Given the description of an element on the screen output the (x, y) to click on. 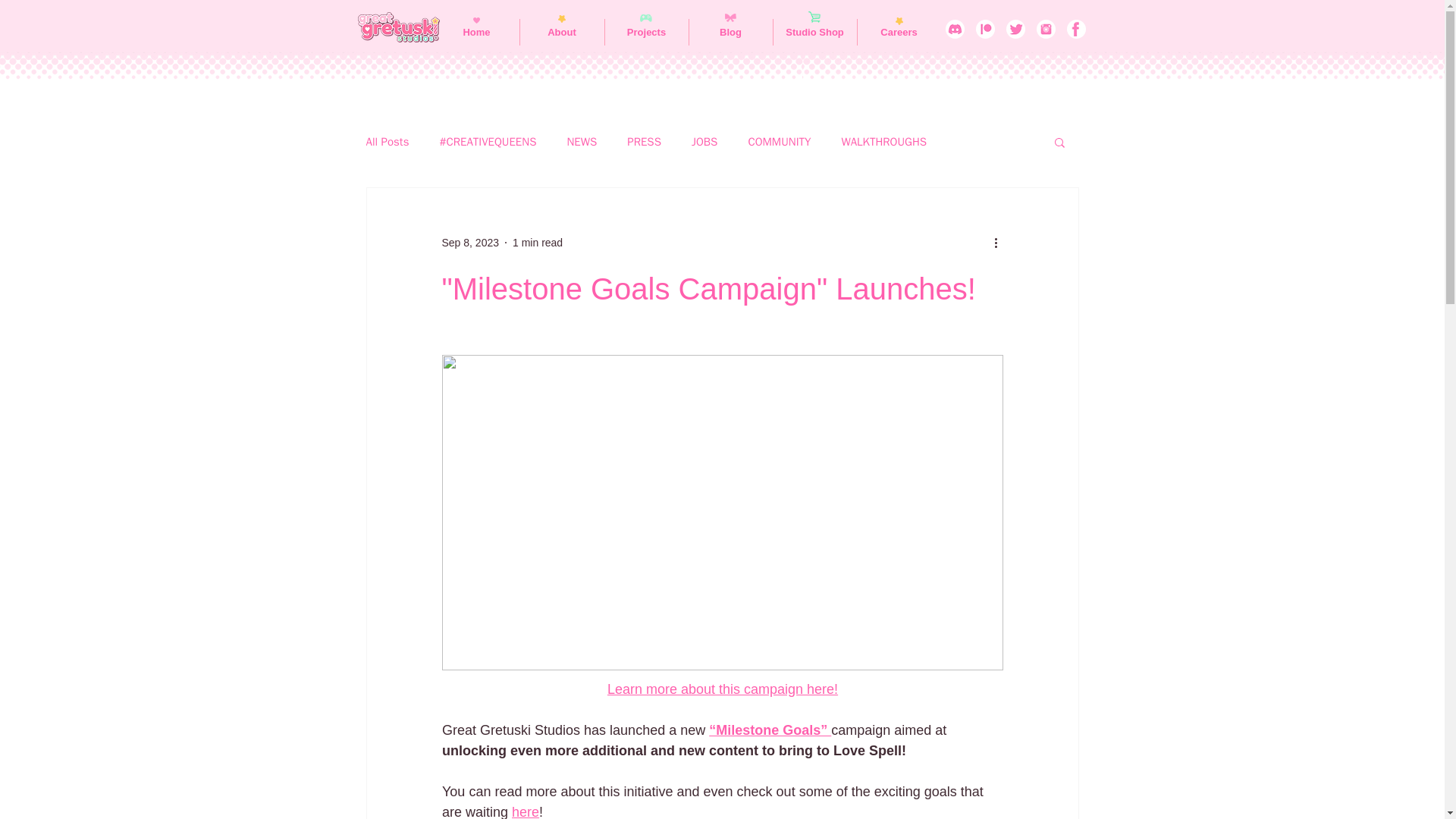
Learn more about this campaign here! (722, 688)
Sep 8, 2023 (470, 242)
1 min read (537, 242)
All Posts (387, 142)
JOBS (704, 142)
Home (475, 31)
Careers (898, 31)
COMMUNITY (779, 142)
WALKTHROUGHS (883, 142)
here (525, 811)
Studio Shop (815, 31)
About (561, 31)
Projects (646, 31)
PRESS (644, 142)
NEWS (581, 142)
